Given the description of an element on the screen output the (x, y) to click on. 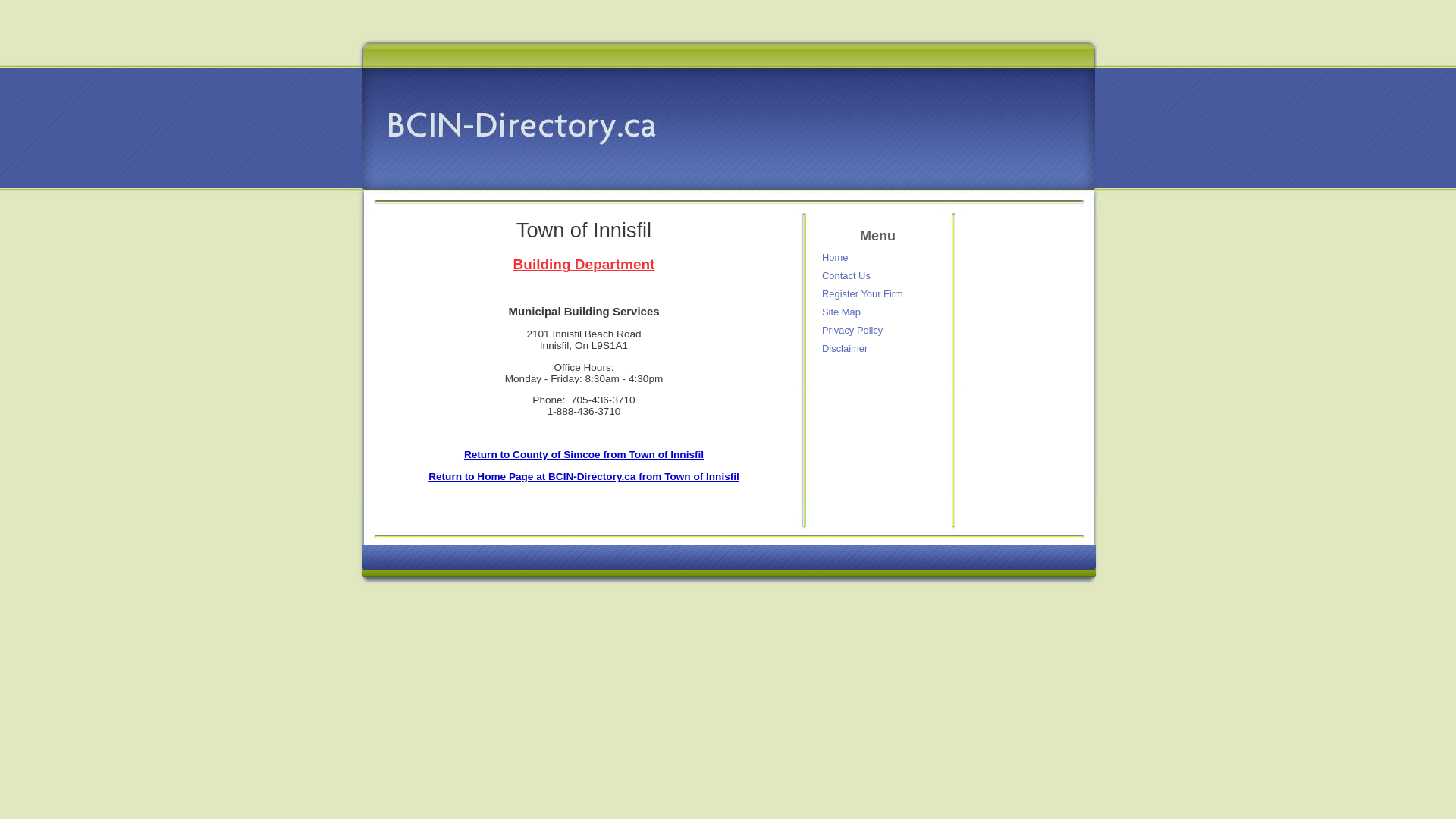
Register Your Firm Element type: text (879, 293)
Privacy Policy Element type: text (879, 330)
Home Element type: text (879, 257)
Building Department Element type: text (584, 265)
Disclaimer Element type: text (879, 348)
Return to County of Simcoe from Town of Innisfil Element type: text (583, 454)
Site Map Element type: text (879, 312)
Contact Us Element type: text (879, 275)
